Given the description of an element on the screen output the (x, y) to click on. 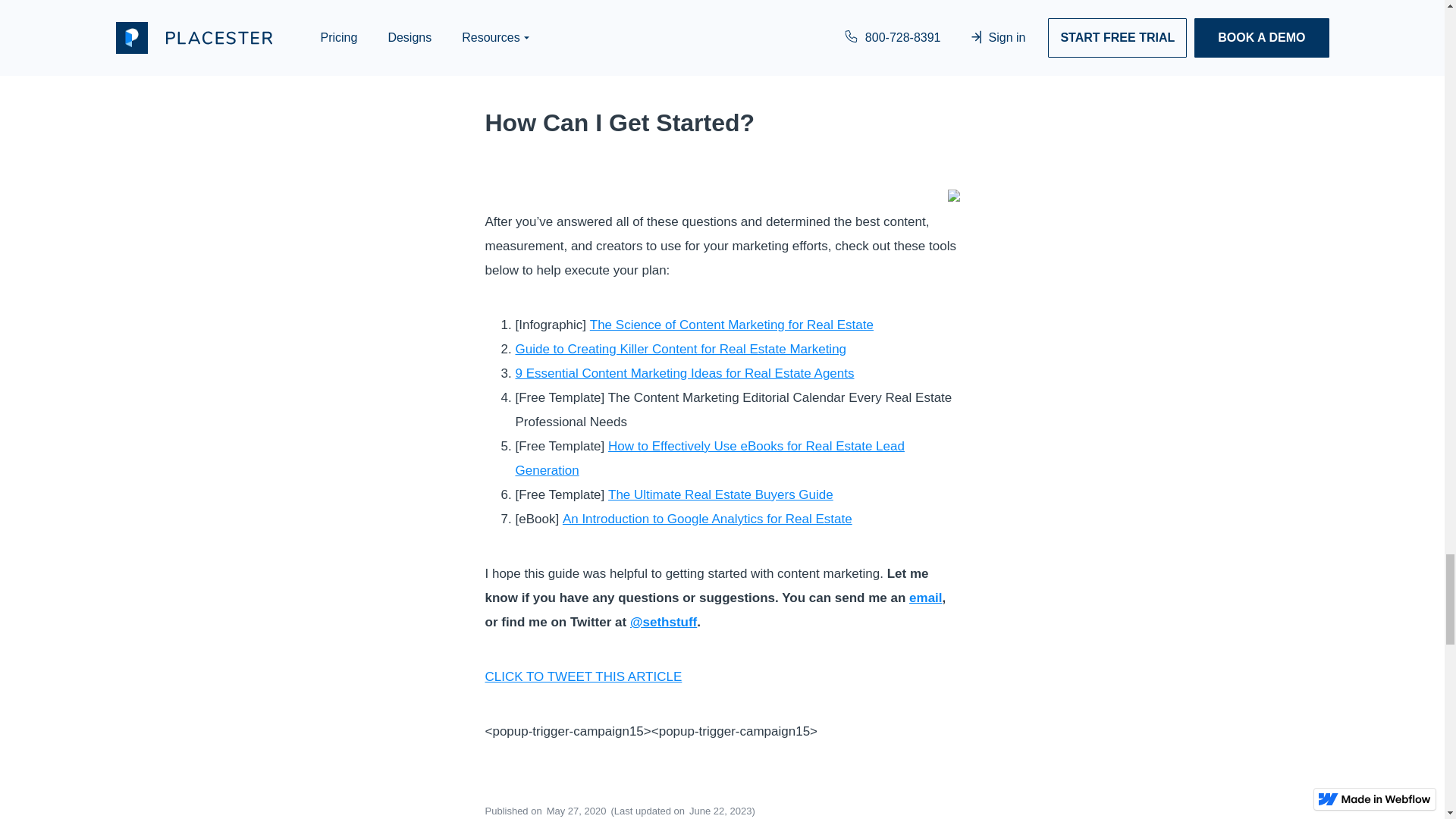
email (925, 597)
The Science of Content Marketing for Real Estate (731, 324)
9 Essential Content Marketing Ideas for Real Estate Agents (684, 373)
The Ultimate Real Estate Buyers Guide (720, 494)
Guide to Creating Killer Content for Real Estate Marketing (681, 349)
An Introduction to Google Analytics for Real Estate (706, 518)
